Given the description of an element on the screen output the (x, y) to click on. 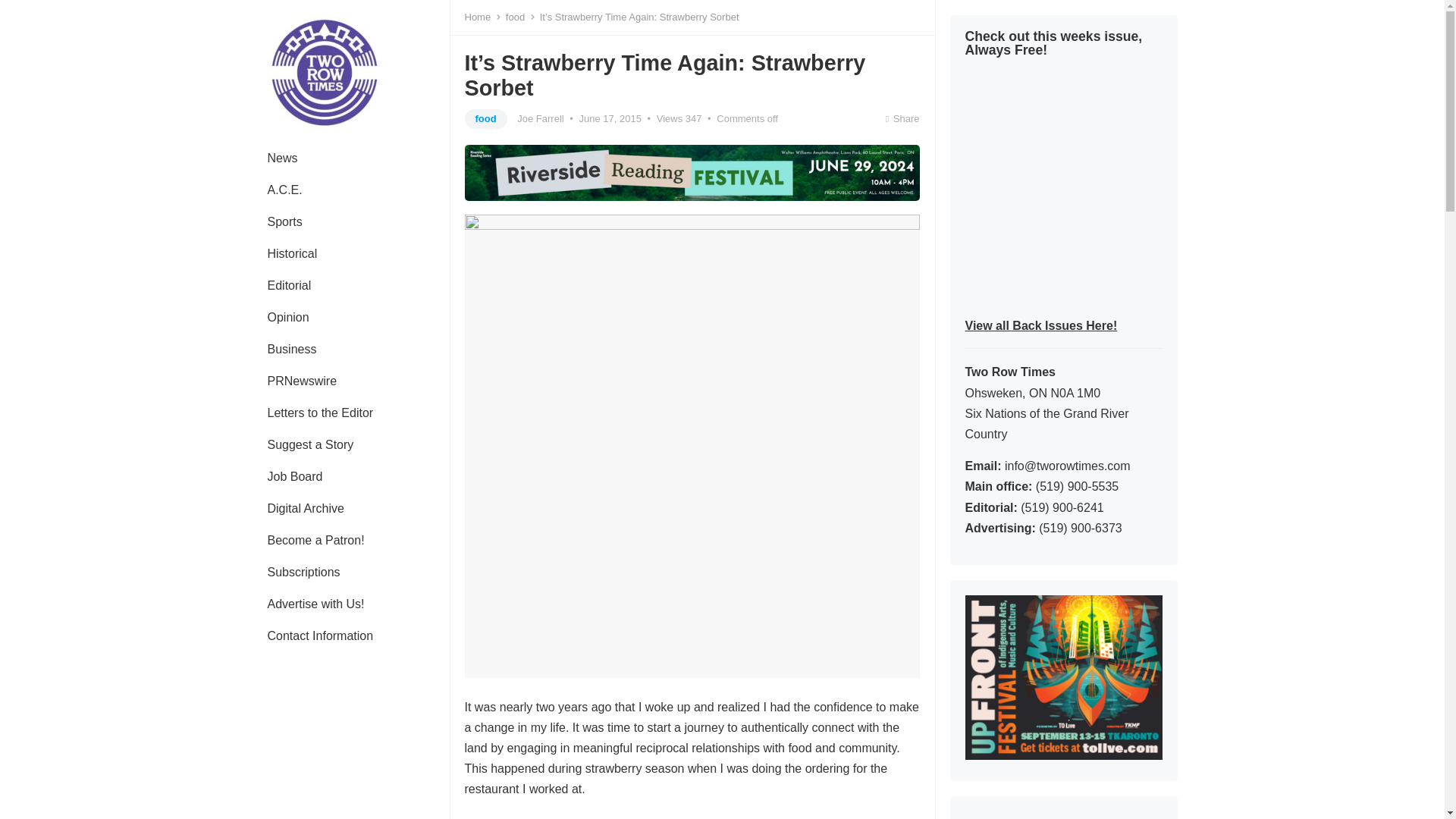
Business (291, 349)
Suggest a Story (309, 445)
News (282, 158)
Subscriptions (303, 572)
Digital Archive (304, 508)
Historical (291, 254)
Editorial (288, 286)
Home (482, 16)
Sports (284, 222)
Contact Information (319, 635)
PRNewswire (301, 381)
Letters to the Editor (319, 413)
A.C.E. (284, 190)
Advertise with Us! (314, 603)
Opinion (287, 317)
